Given the description of an element on the screen output the (x, y) to click on. 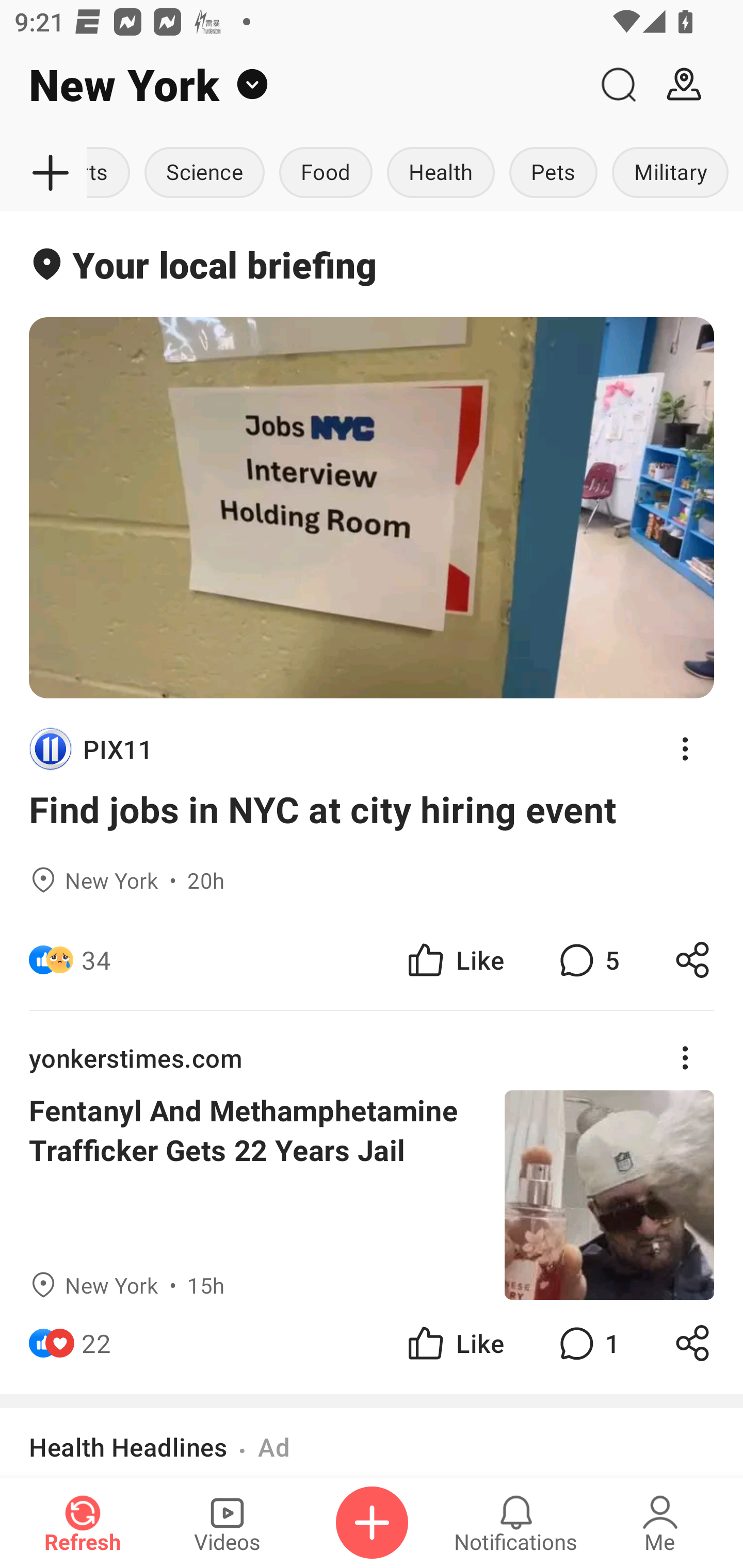
New York (292, 84)
Science (204, 172)
Food (325, 172)
Health (440, 172)
Pets (553, 172)
Military (669, 172)
34 (95, 960)
Like (454, 960)
5 (587, 960)
22 (95, 1342)
Like (454, 1342)
1 (587, 1342)
Health Headlines (127, 1447)
Videos (227, 1522)
Notifications (516, 1522)
Me (659, 1522)
